Given the description of an element on the screen output the (x, y) to click on. 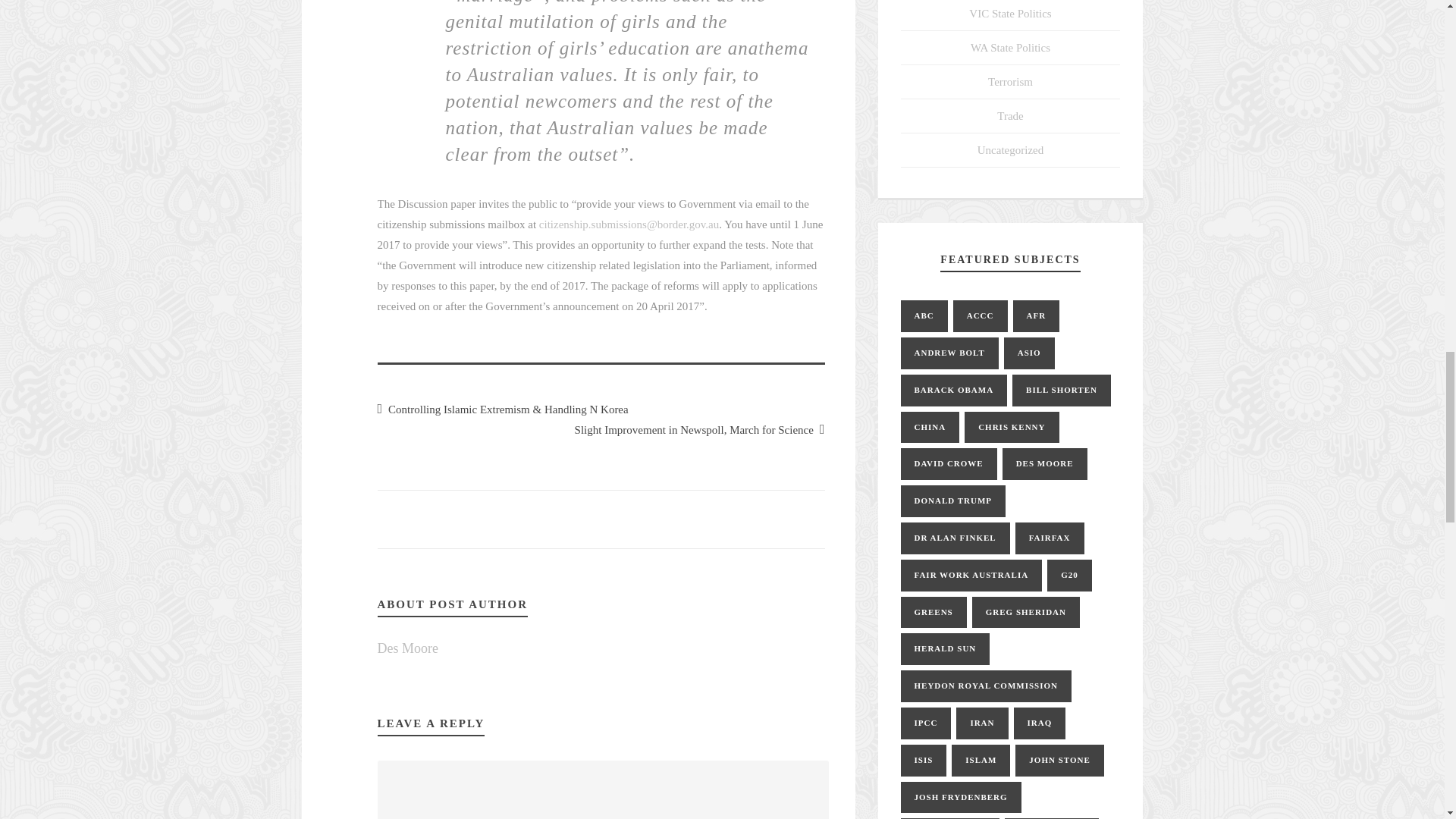
Des Moore (407, 648)
Slight Improvement in Newspoll, March for Science (700, 429)
Posts by Des Moore (407, 648)
